Given the description of an element on the screen output the (x, y) to click on. 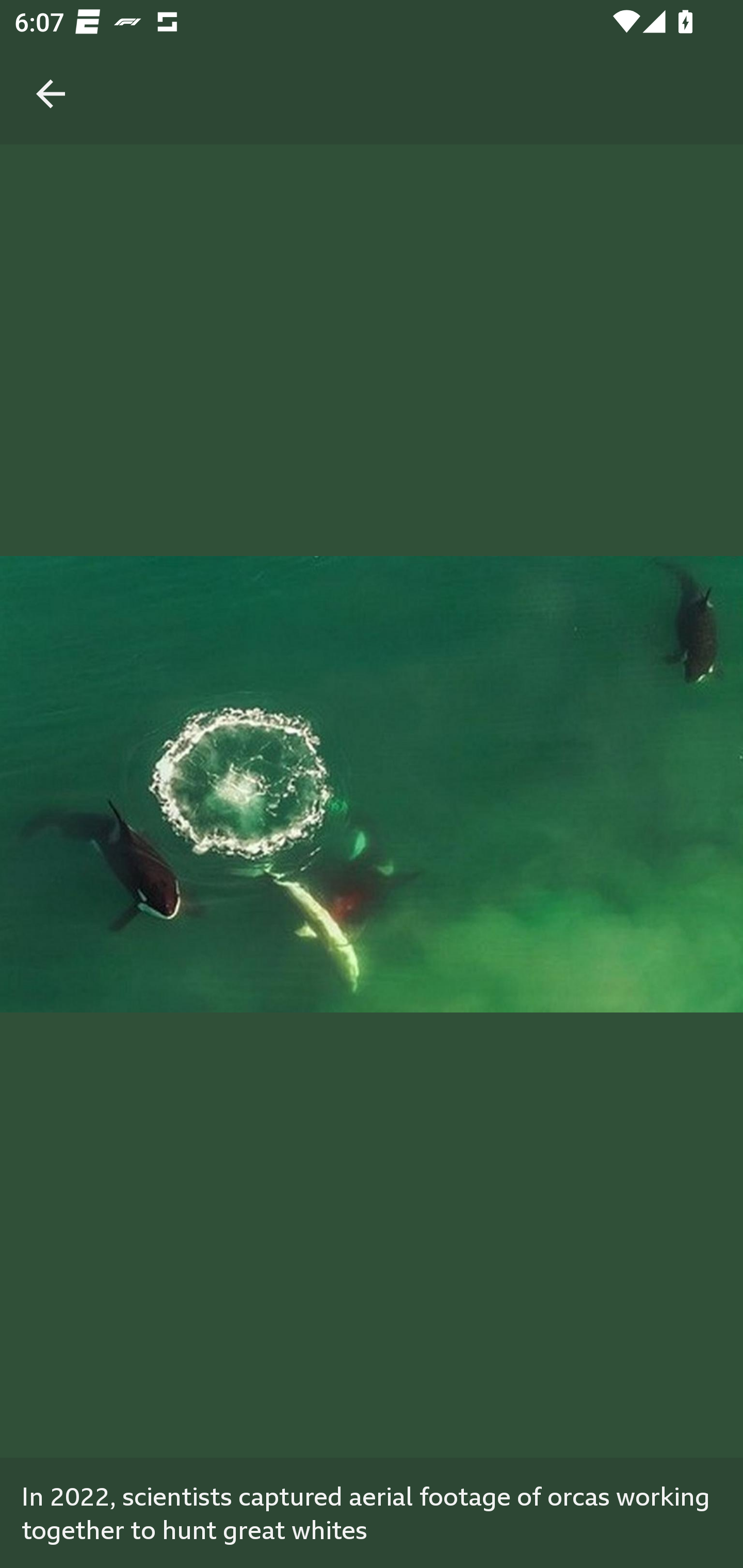
Back (50, 72)
